Given the description of an element on the screen output the (x, y) to click on. 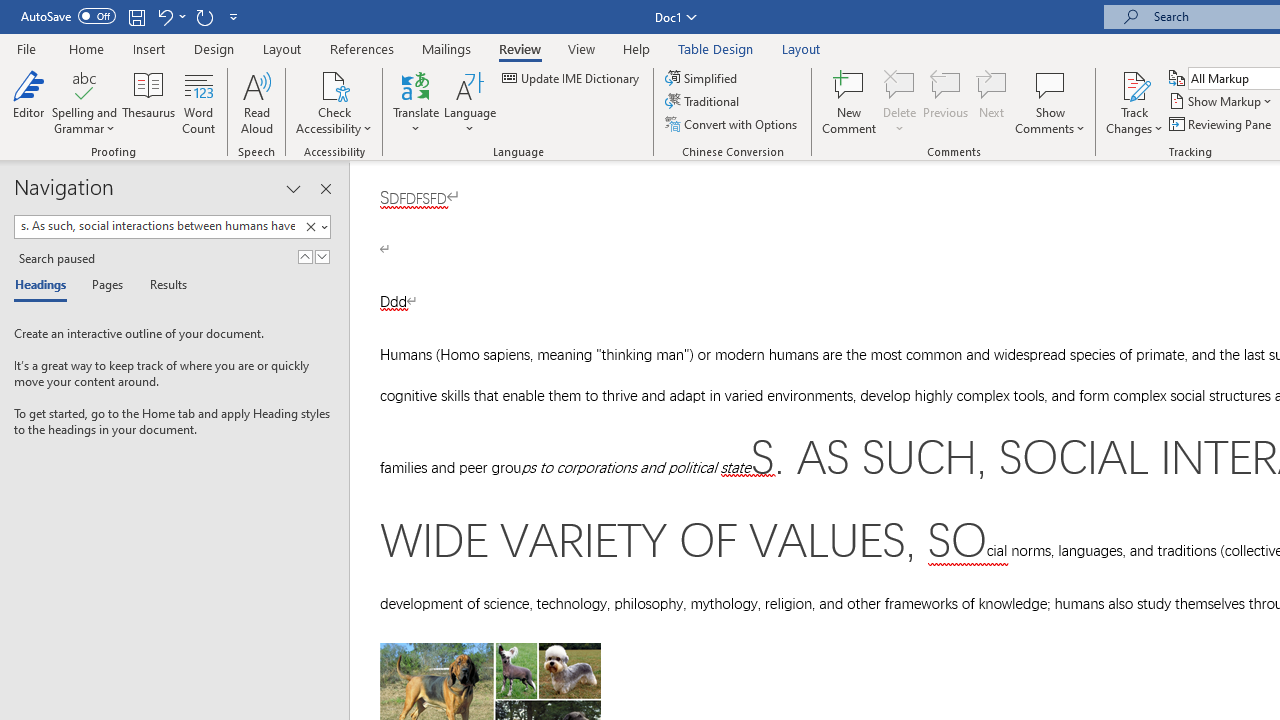
Clear (310, 227)
Undo Style (170, 15)
Traditional (703, 101)
New Comment (849, 102)
Convert with Options... (732, 124)
Previous (946, 102)
Spelling and Grammar (84, 102)
Show Comments (1050, 84)
